Given the description of an element on the screen output the (x, y) to click on. 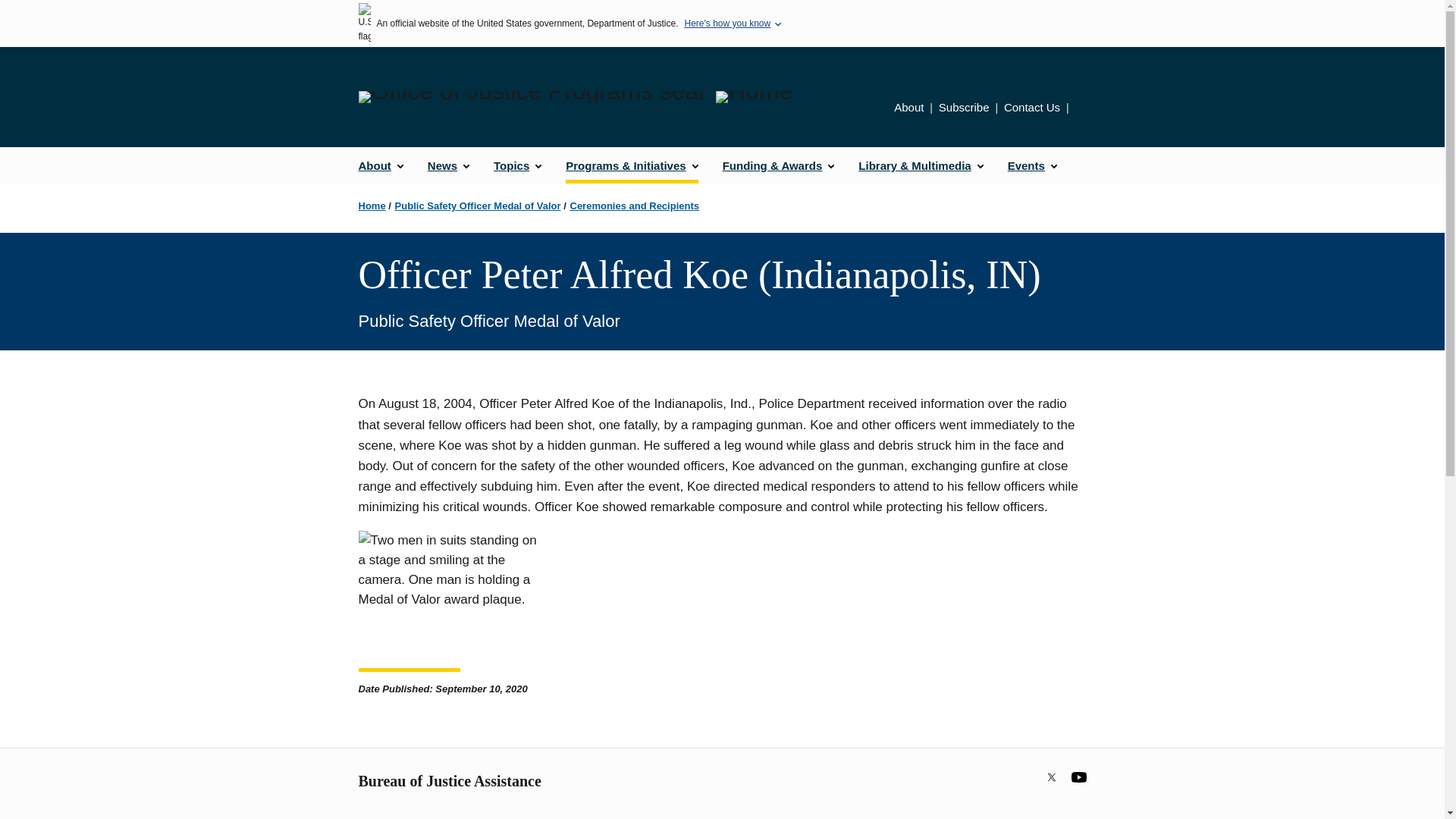
About (908, 107)
Office of Justice Programs (530, 96)
Share (1080, 108)
Events (1031, 165)
Choose a social sharing platform (1080, 108)
Home (754, 96)
News (447, 165)
Public Safety Officer Medal of Valor (477, 205)
Ceremonies and Recipients (635, 205)
Topics (517, 165)
